Given the description of an element on the screen output the (x, y) to click on. 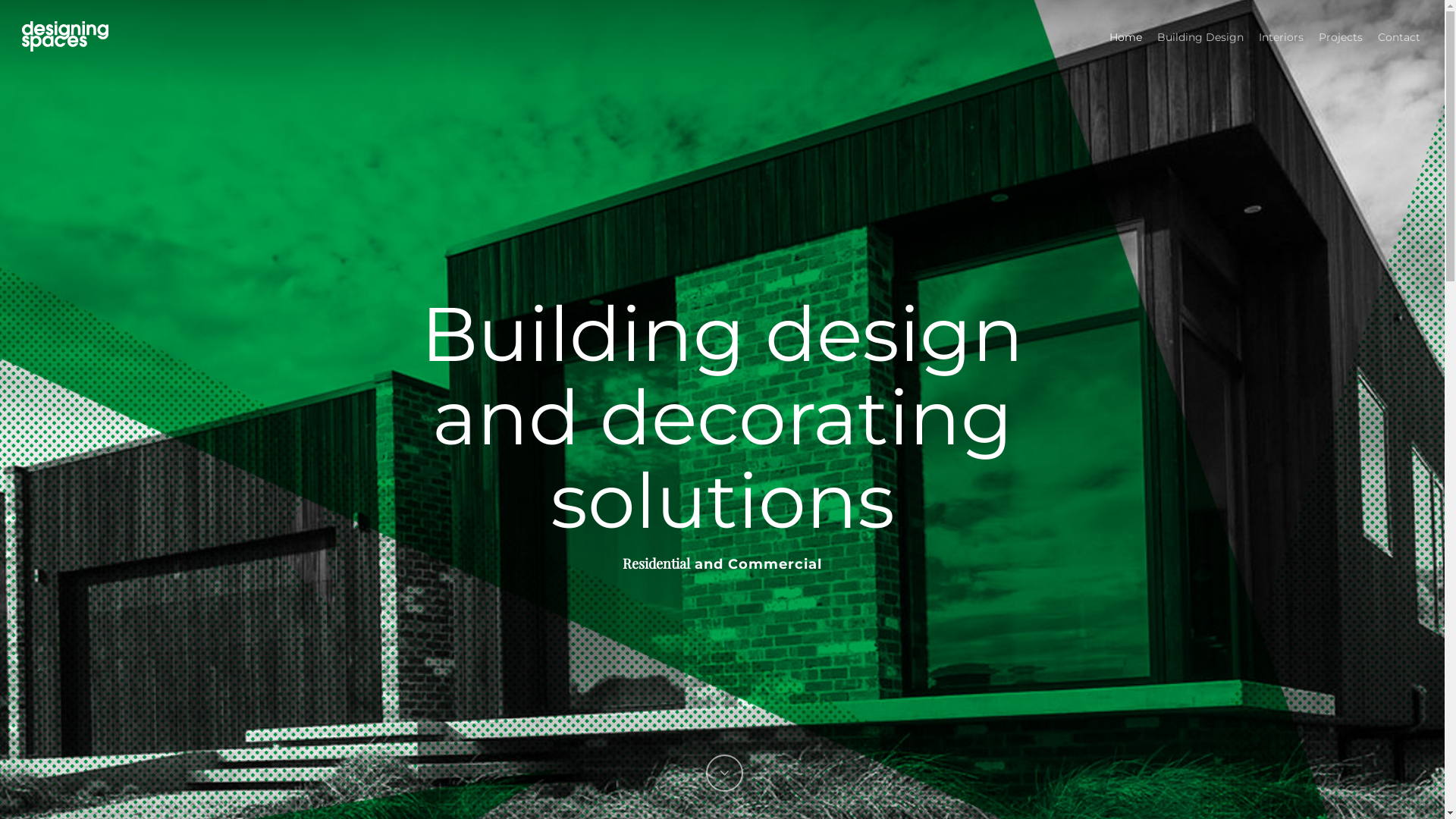
Interiors Element type: text (1281, 35)
Building Design Element type: text (1200, 35)
Projects Element type: text (1340, 35)
Home Element type: text (1125, 35)
Contact Element type: text (1398, 35)
